Given the description of an element on the screen output the (x, y) to click on. 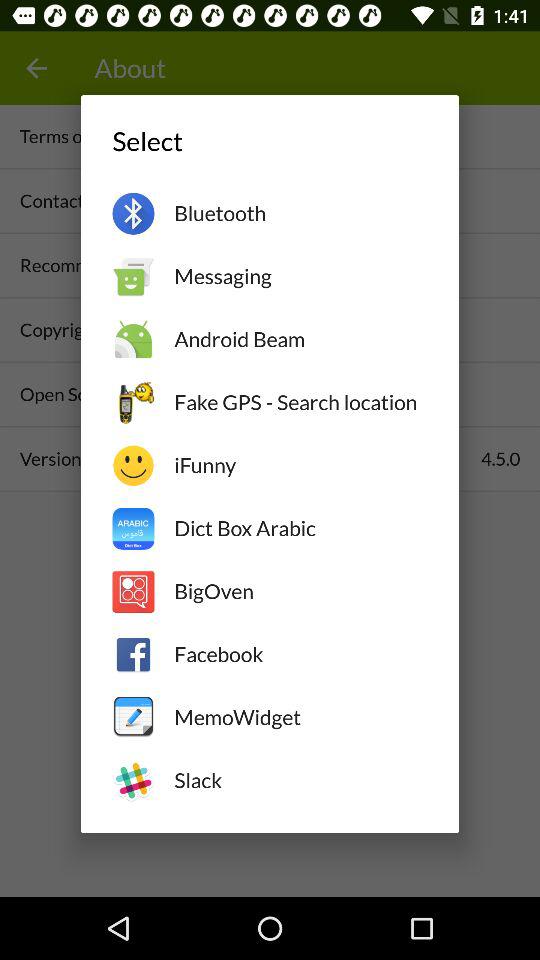
click the icon above memowidget (300, 654)
